Given the description of an element on the screen output the (x, y) to click on. 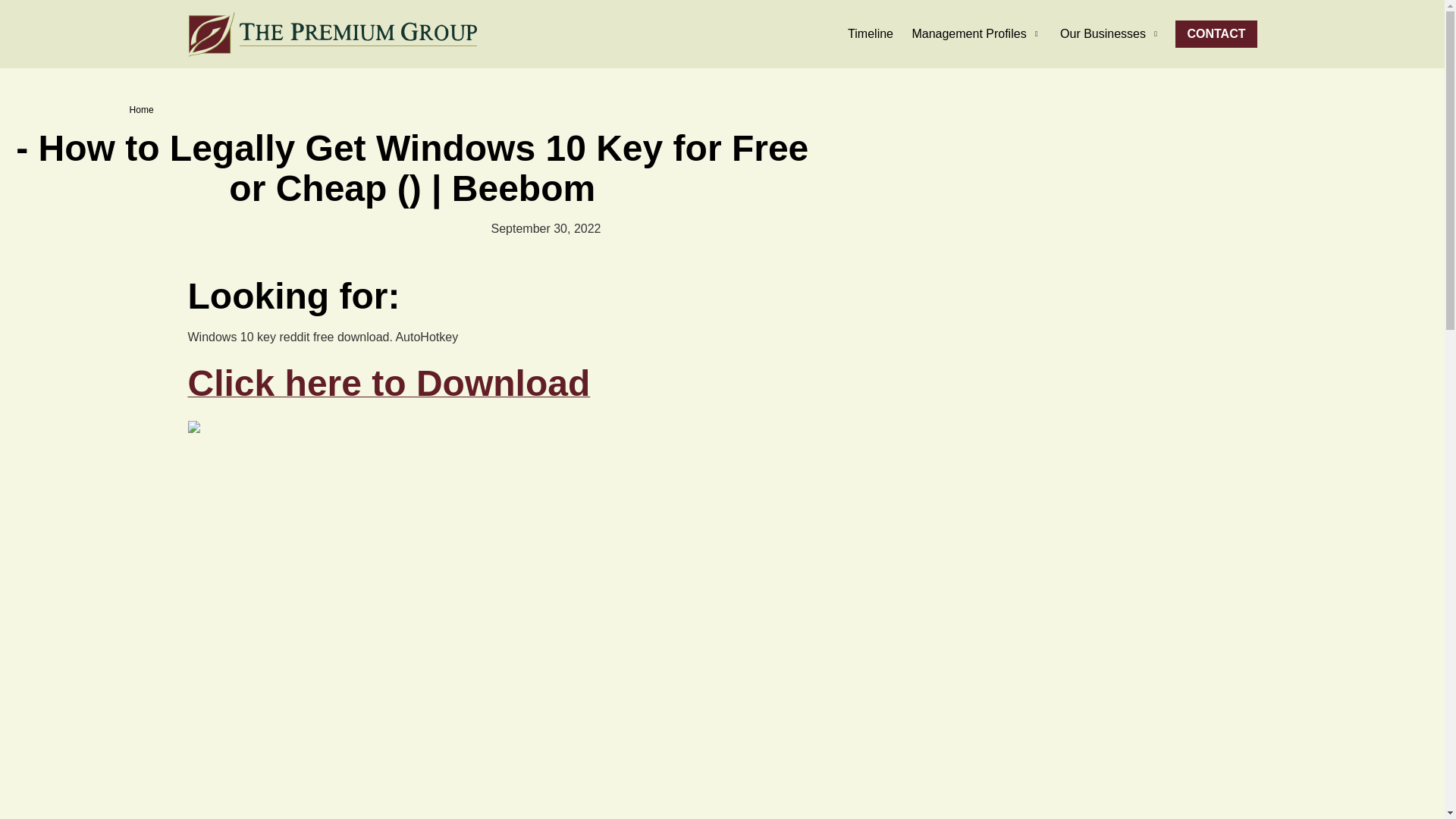
Our Businesses (1110, 33)
Timeline (870, 33)
Home (141, 109)
CONTACT (1215, 33)
Click here to Download (389, 391)
Management Profiles (976, 33)
